Given the description of an element on the screen output the (x, y) to click on. 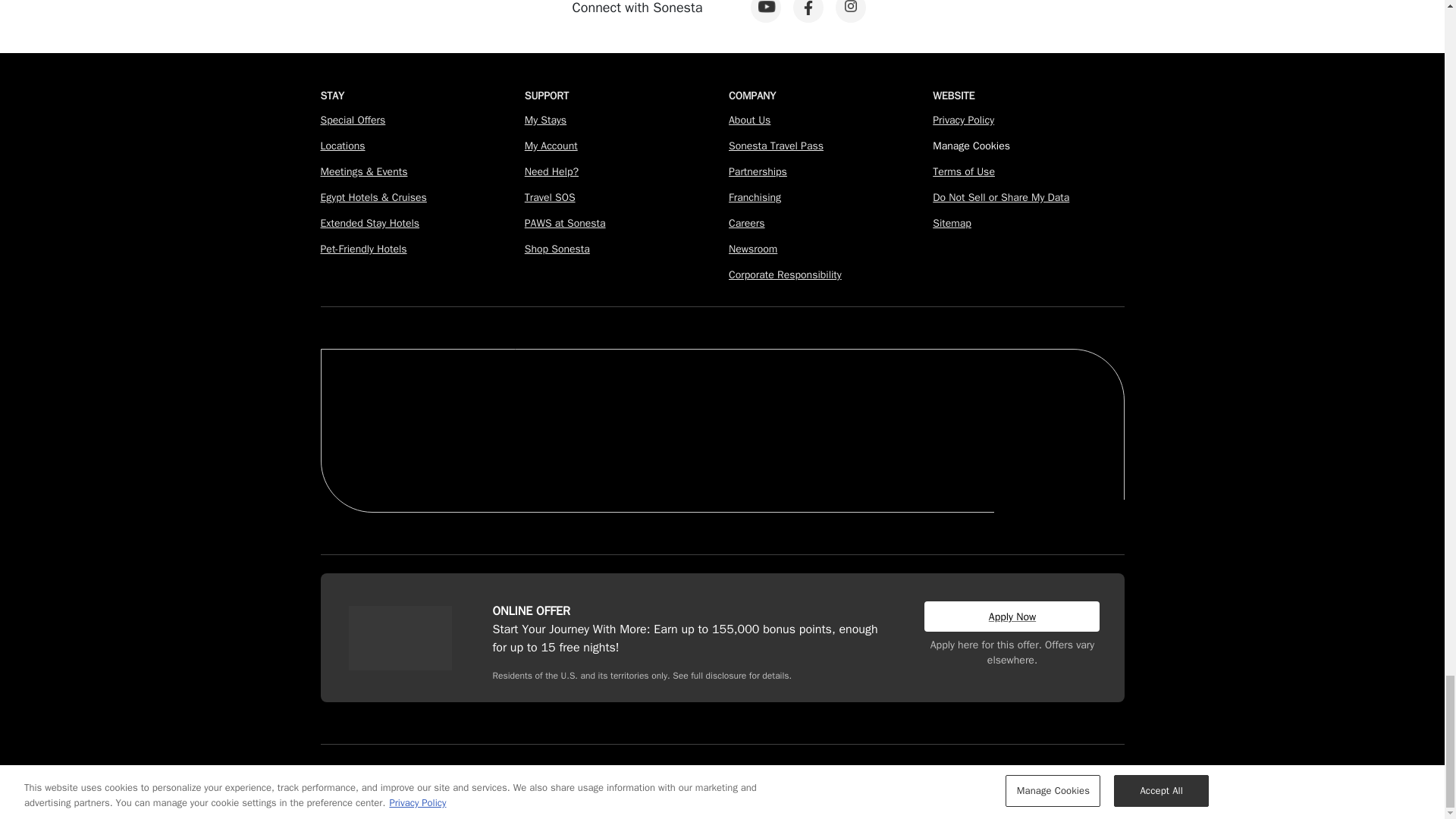
Mod Sonesta Collection (856, 403)
Sonesta Hotels Resorts (749, 403)
The Royal Sonesta (390, 404)
The James Hotels (498, 408)
Classico Sonesta Collection (619, 403)
